Given the description of an element on the screen output the (x, y) to click on. 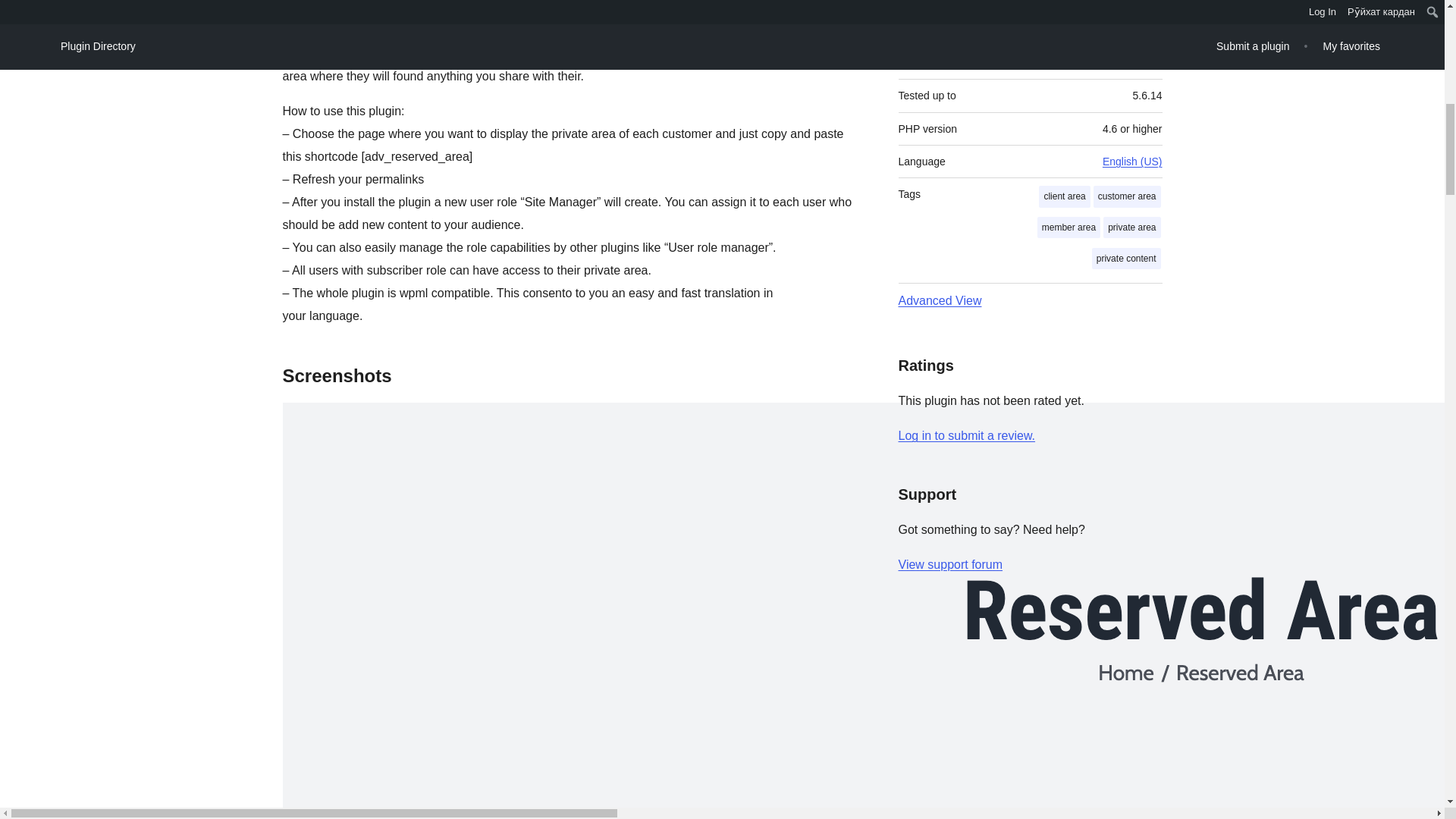
Log in to WordPress.org (966, 435)
